Given the description of an element on the screen output the (x, y) to click on. 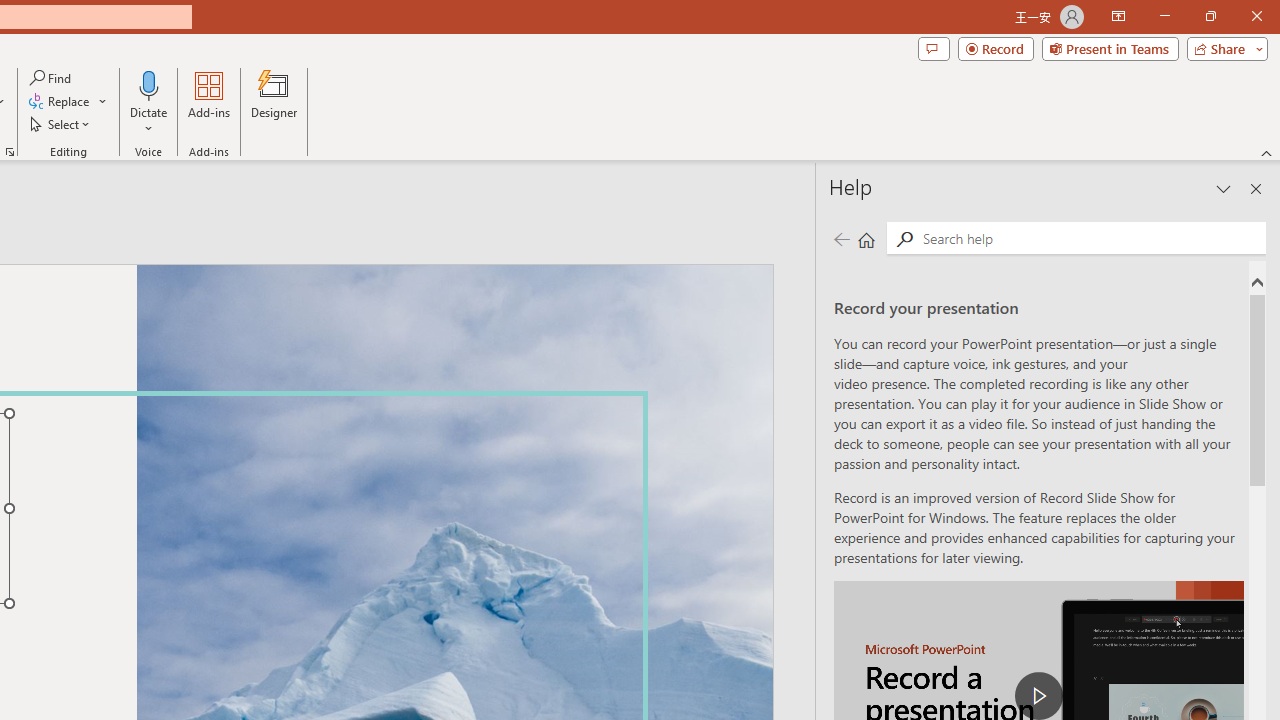
play Record a Presentation (1038, 695)
